Given the description of an element on the screen output the (x, y) to click on. 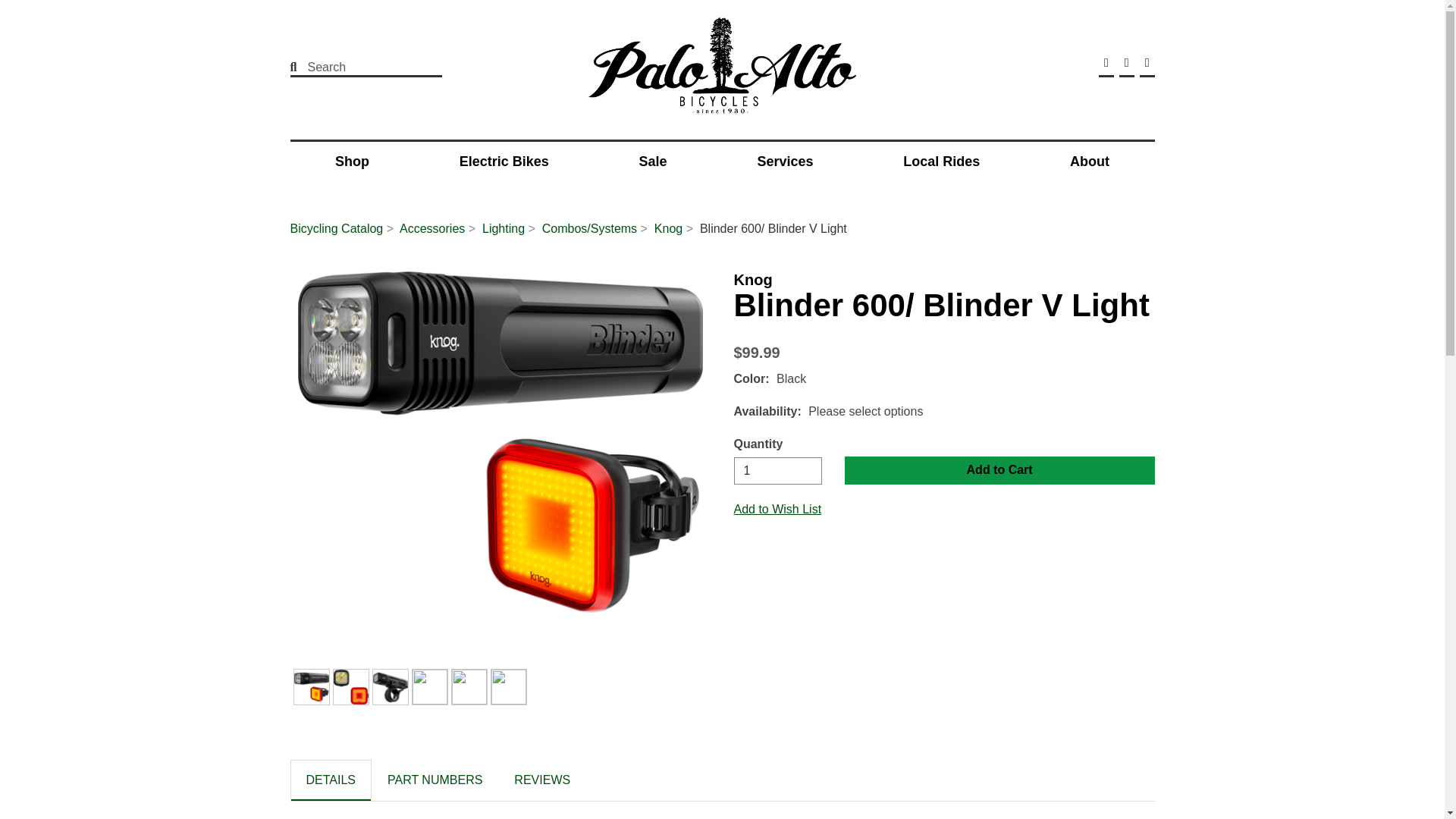
Color: Black (311, 686)
Search (356, 67)
Palo Alto Bicycles Home Page (721, 67)
1 (777, 470)
Shop (352, 161)
